Given the description of an element on the screen output the (x, y) to click on. 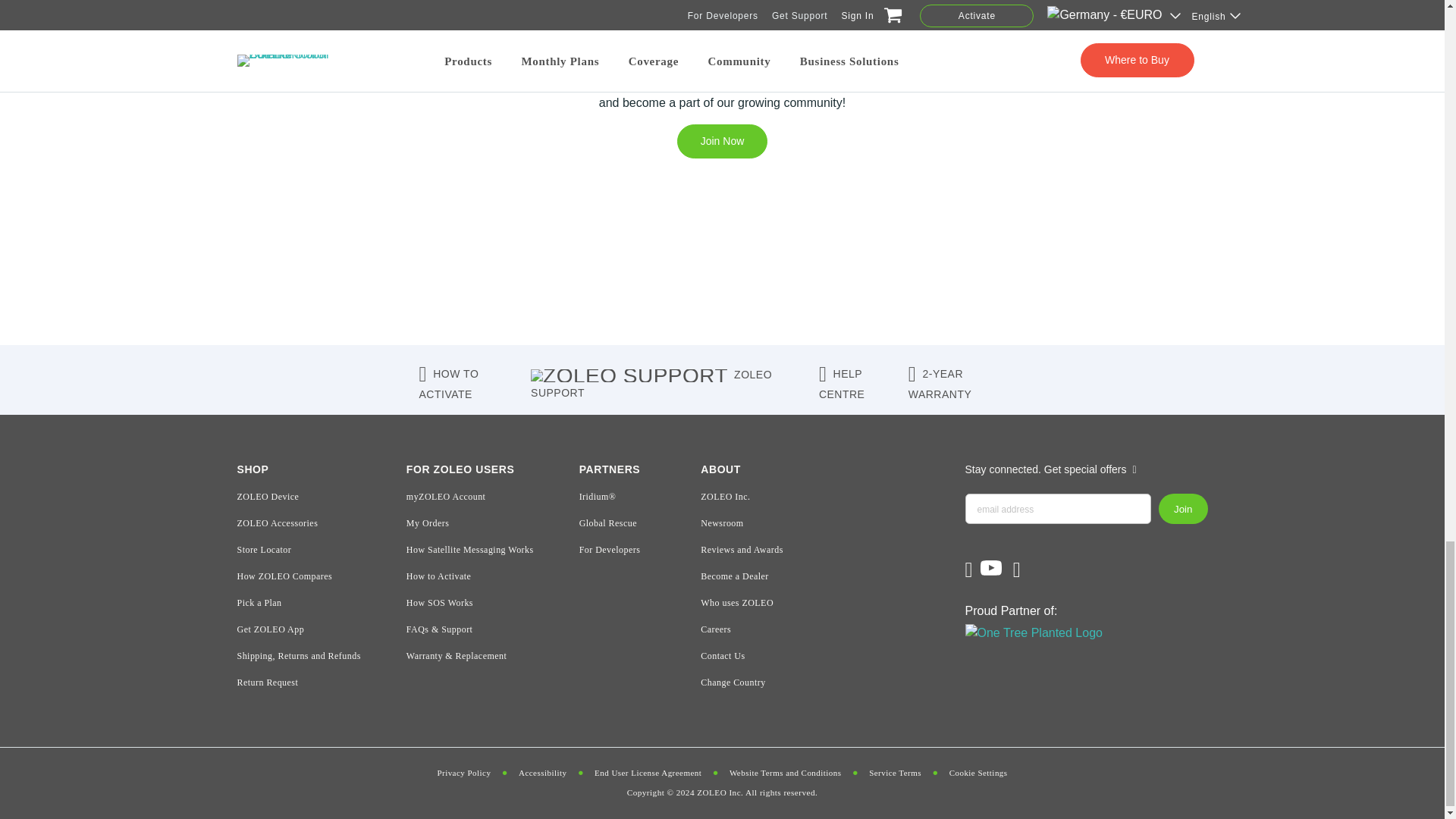
Join Now (722, 141)
Join (1182, 508)
BC- Dealer Inquiry  (721, 275)
